Given the description of an element on the screen output the (x, y) to click on. 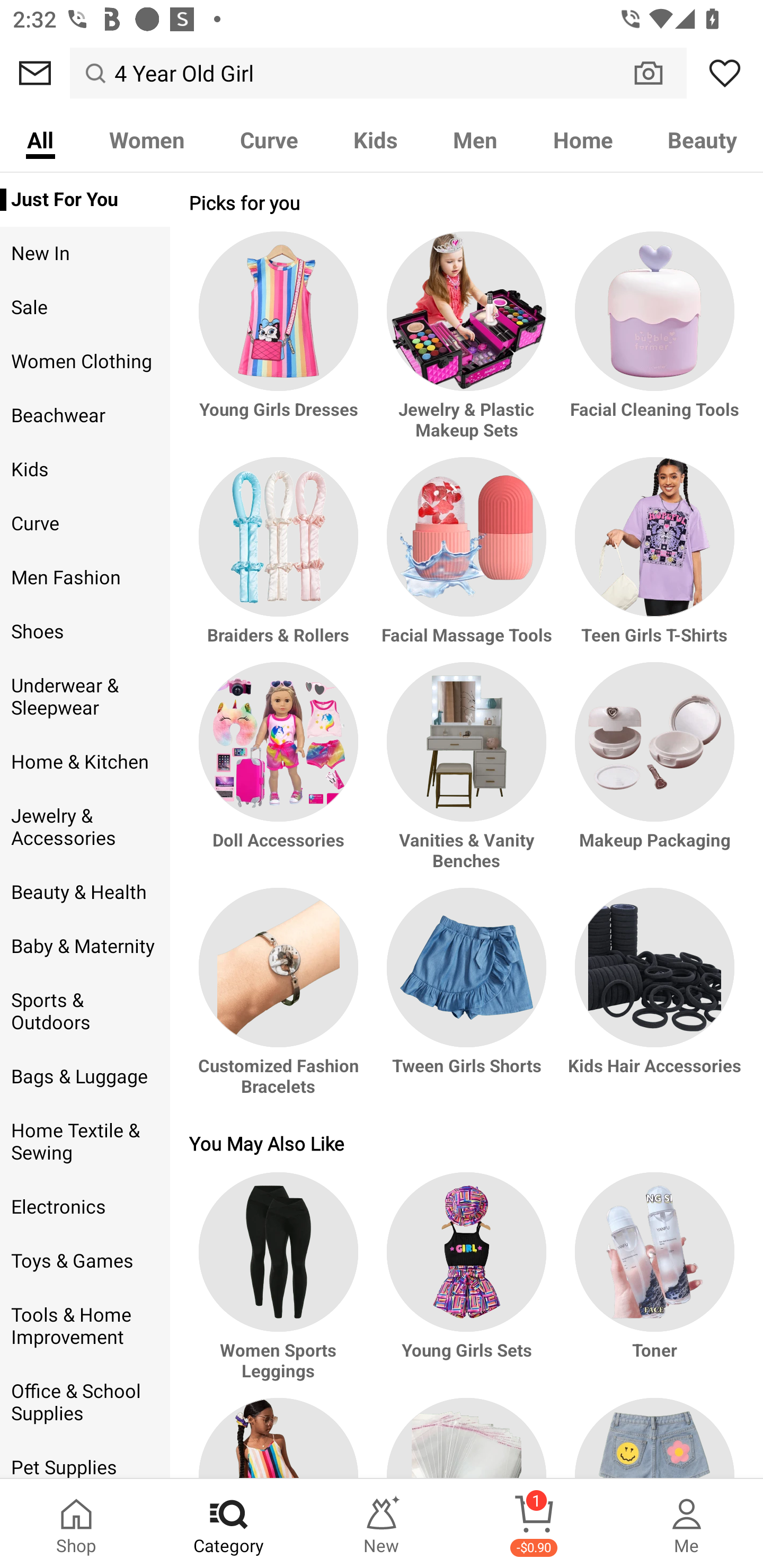
Wishlist (724, 72)
VISUAL SEARCH (657, 72)
All (40, 139)
Women (146, 139)
Curve (268, 139)
Kids (375, 139)
Men (474, 139)
Home (582, 139)
Beauty (701, 139)
Just For You (85, 199)
Picks for you (466, 202)
New In (85, 253)
Young Girls Dresses (281, 344)
Jewelry & Plastic Makeup Sets (466, 344)
Facial Cleaning Tools (651, 344)
Sale (85, 307)
Women Clothing (85, 361)
Beachwear (85, 415)
Kids (85, 469)
Braiders & Rollers (281, 559)
Facial Massage Tools (466, 559)
Teen Girls T-Shirts (651, 559)
Curve (85, 523)
Men Fashion (85, 577)
Shoes (85, 631)
Underwear & Sleepwear (85, 696)
Doll Accessories (281, 774)
Vanities & Vanity Benches (466, 774)
Makeup Packaging (651, 774)
Home & Kitchen (85, 761)
Jewelry & Accessories (85, 826)
Beauty & Health (85, 891)
Customized Fashion Bracelets (281, 1000)
Tween Girls Shorts (466, 1000)
Kids Hair Accessories (651, 1000)
Baby & Maternity (85, 945)
Sports & Outdoors (85, 1011)
Bags & Luggage (85, 1076)
Home Textile & Sewing (85, 1141)
You May Also Like (466, 1142)
Women Sports Leggings (281, 1285)
Young Girls Sets (466, 1285)
Toner (651, 1285)
Electronics (85, 1207)
Toys & Games (85, 1261)
Tools & Home Improvement (85, 1326)
Office & School Supplies (85, 1402)
Pet Supplies (85, 1459)
Shop (76, 1523)
New (381, 1523)
Cart 1 -$0.90 (533, 1523)
Me (686, 1523)
